Given the description of an element on the screen output the (x, y) to click on. 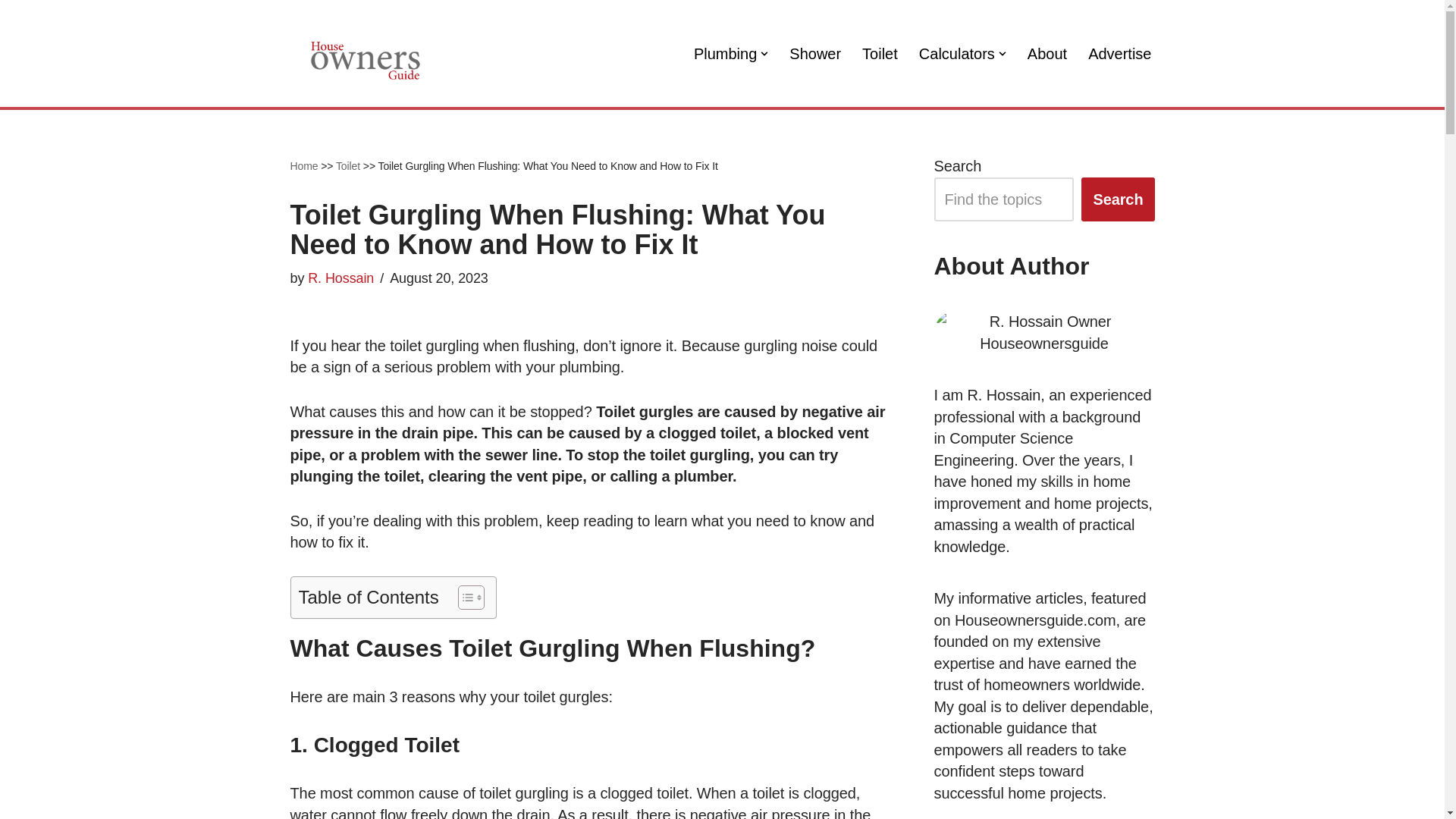
Plumbing (725, 53)
Posts by R. Hossain (340, 278)
Advertise (1119, 53)
About (1047, 53)
Shower (815, 53)
Calculators (956, 53)
Toilet (879, 53)
Skip to content (11, 31)
